Given the description of an element on the screen output the (x, y) to click on. 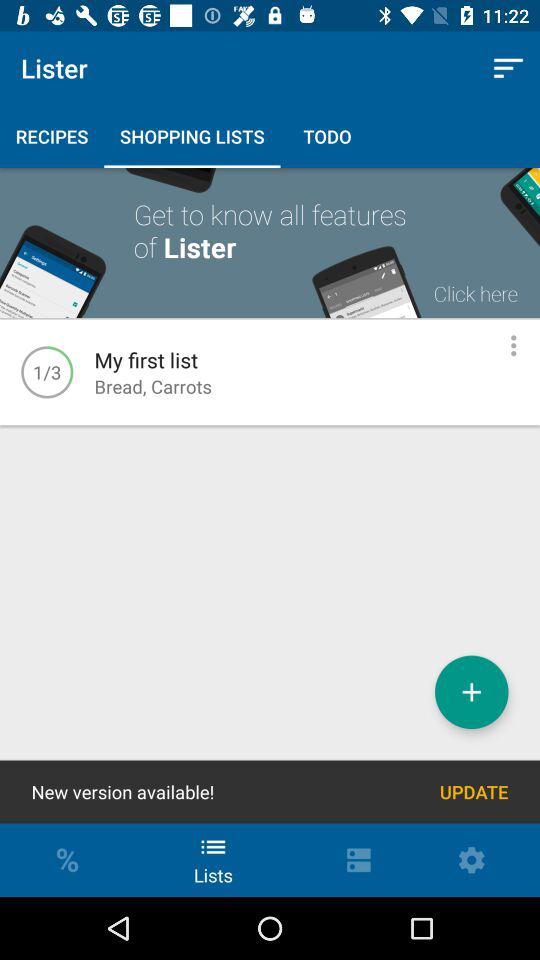
open icon at the top right corner (508, 67)
